Given the description of an element on the screen output the (x, y) to click on. 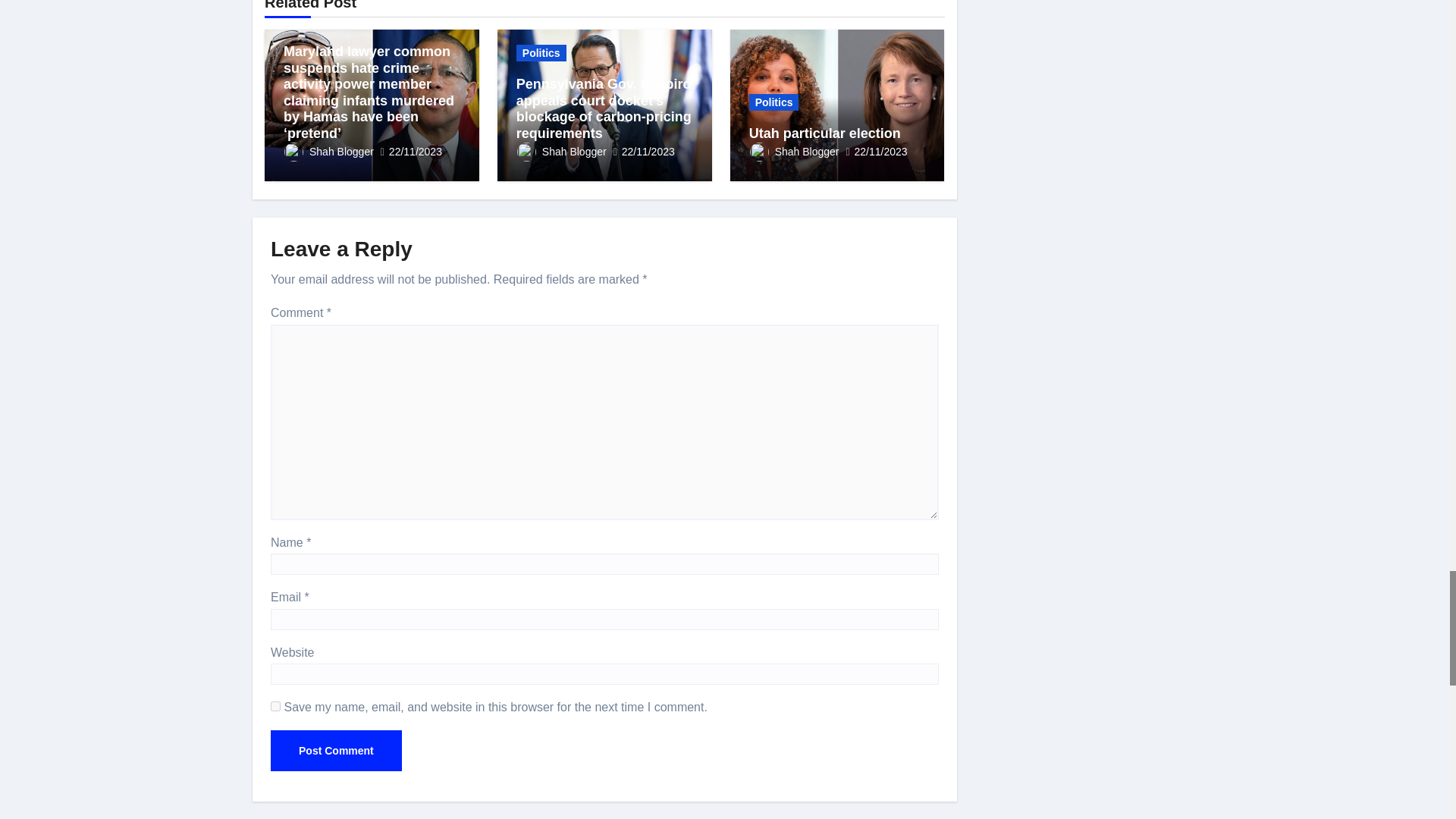
yes (275, 706)
Post Comment (335, 750)
Permalink to: Utah particular election (825, 133)
